Given the description of an element on the screen output the (x, y) to click on. 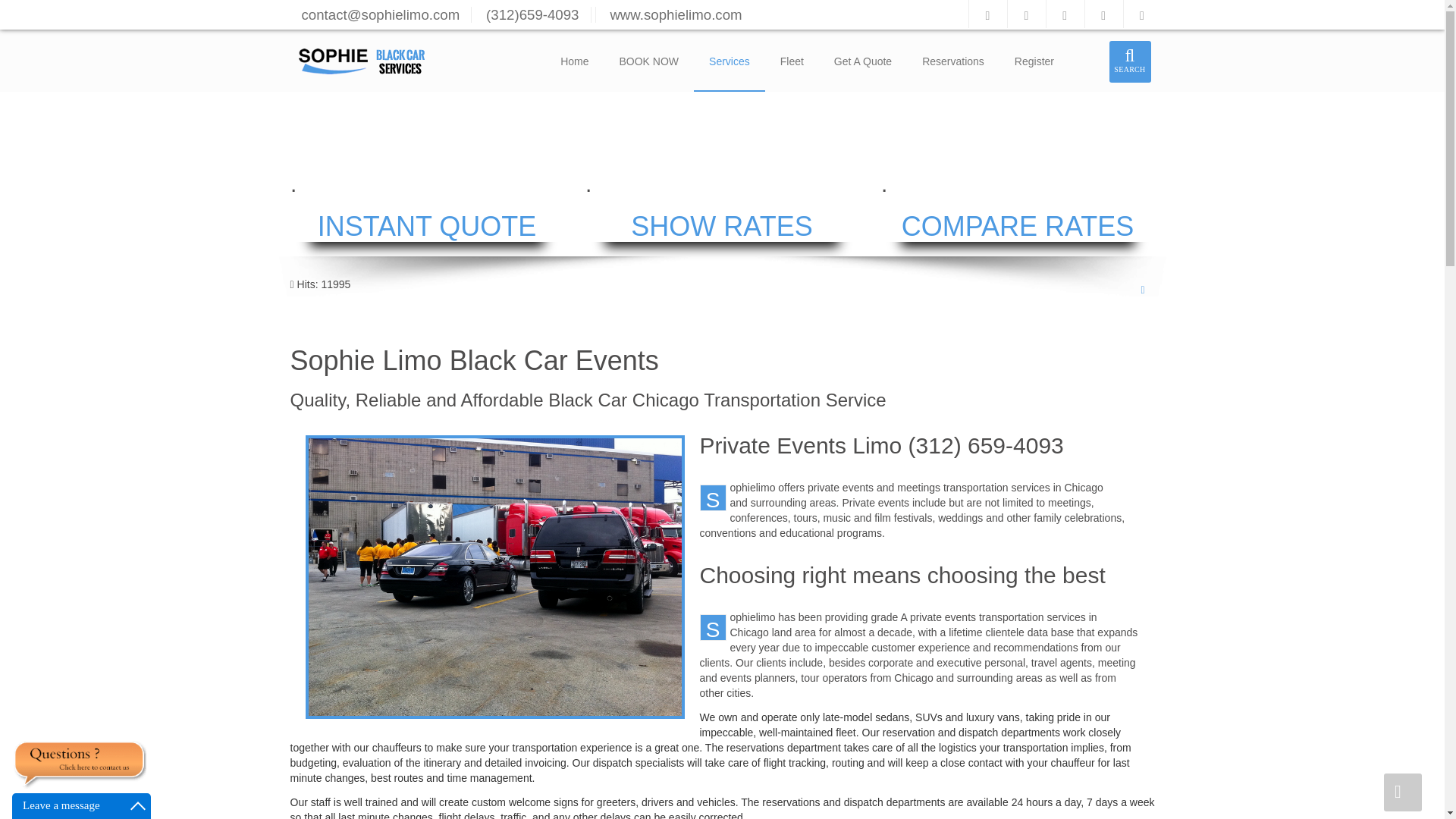
SHOW RATES (721, 225)
COMPARE RATES (1017, 225)
Get A Quote (862, 60)
Show Rates (721, 225)
Services (729, 60)
BOOK NOW (649, 60)
INSTANT QUOTE (426, 225)
Maximize (138, 805)
Sophie Limo (351, 61)
Register (1033, 60)
Home (574, 60)
Reservations (952, 60)
www.sophielimo.com (675, 14)
Show Rates (426, 225)
Show Rates (1017, 225)
